Given the description of an element on the screen output the (x, y) to click on. 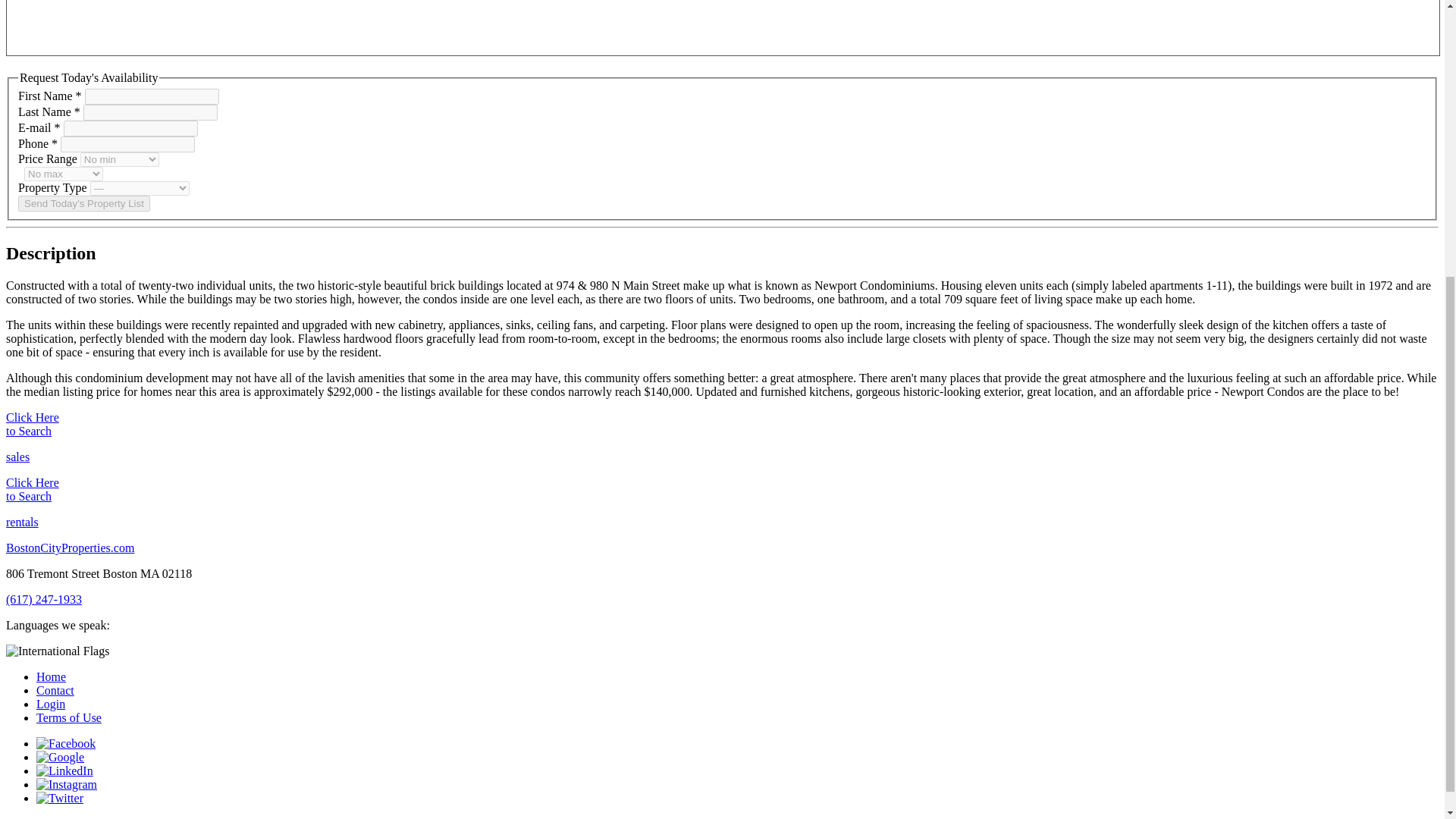
Home (50, 676)
Login (50, 703)
Contact (55, 689)
Send Today's Property List (83, 203)
Terms of Use (68, 717)
BostonCityProperties.com (69, 547)
